Given the description of an element on the screen output the (x, y) to click on. 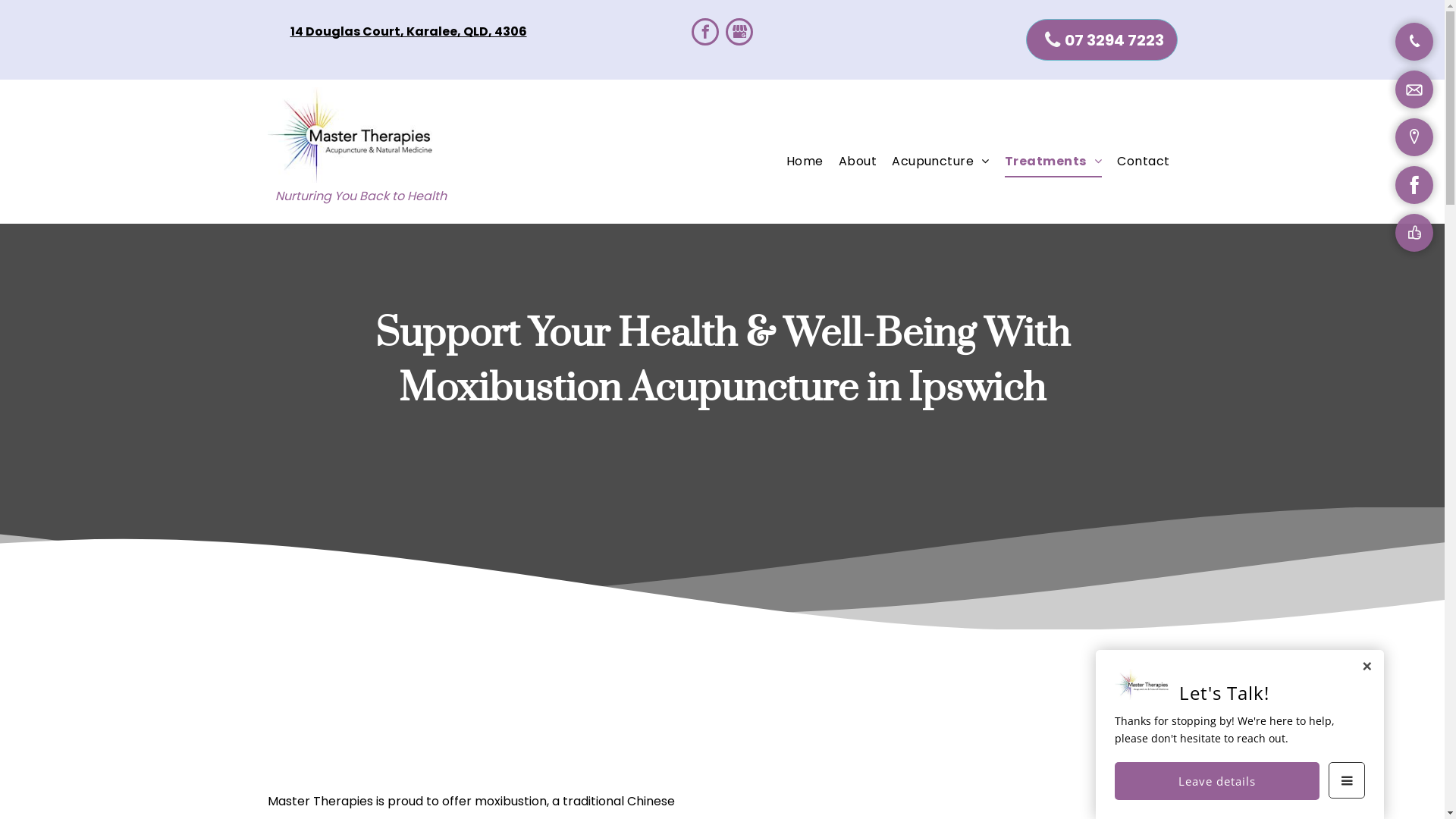
Master Therapies Element type: hover (350, 134)
Contact Element type: text (1142, 161)
Home Element type: text (804, 161)
Leave details Element type: text (1216, 781)
14 Douglas Court, Karalee, QLD, 4306 Element type: text (407, 31)
Acupuncture Element type: text (940, 161)
Treatments Element type: text (1053, 161)
About Element type: text (857, 161)
07 3294 7223 Element type: text (1100, 39)
